Given the description of an element on the screen output the (x, y) to click on. 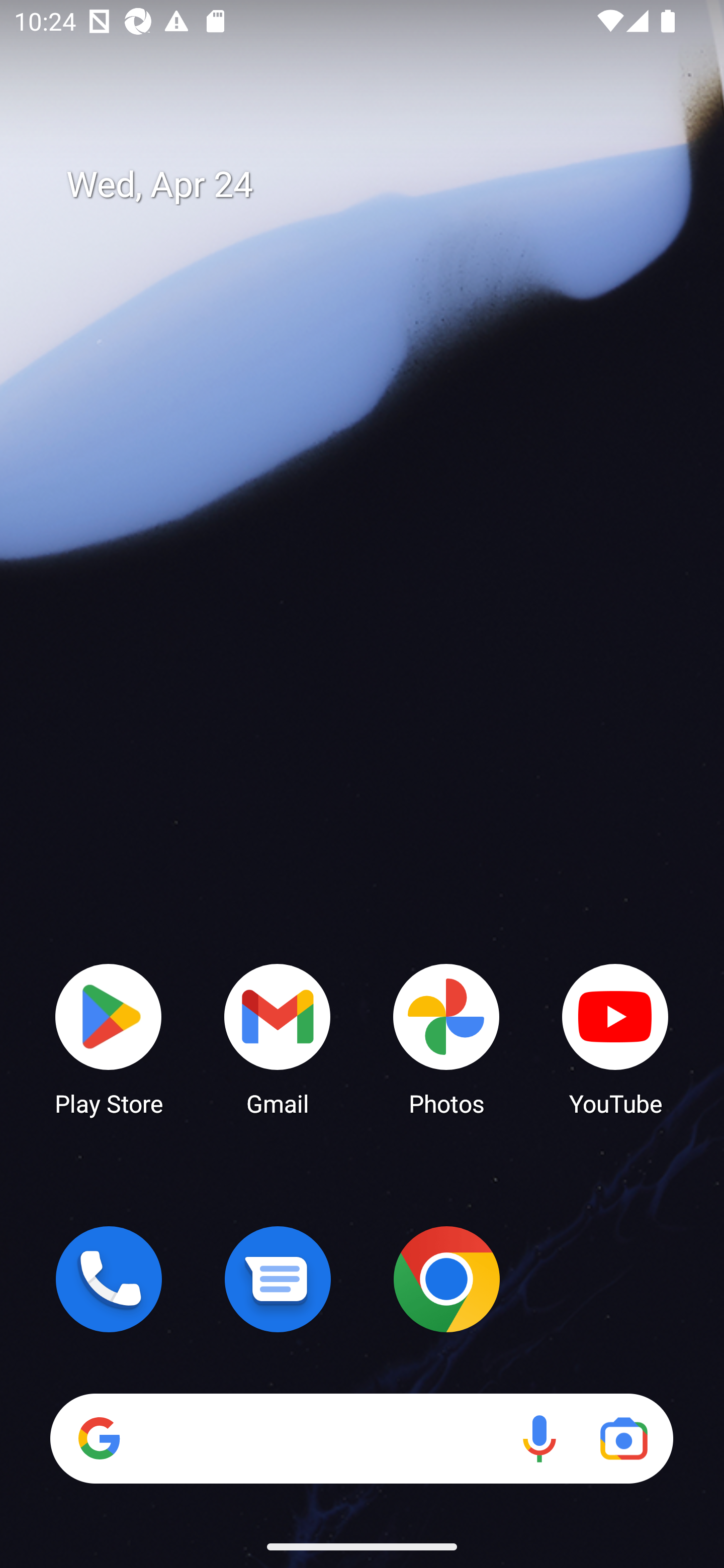
Wed, Apr 24 (375, 184)
Play Store (108, 1038)
Gmail (277, 1038)
Photos (445, 1038)
YouTube (615, 1038)
Phone (108, 1279)
Messages (277, 1279)
Chrome (446, 1279)
Search Voice search Google Lens (361, 1438)
Voice search (539, 1438)
Google Lens (623, 1438)
